Given the description of an element on the screen output the (x, y) to click on. 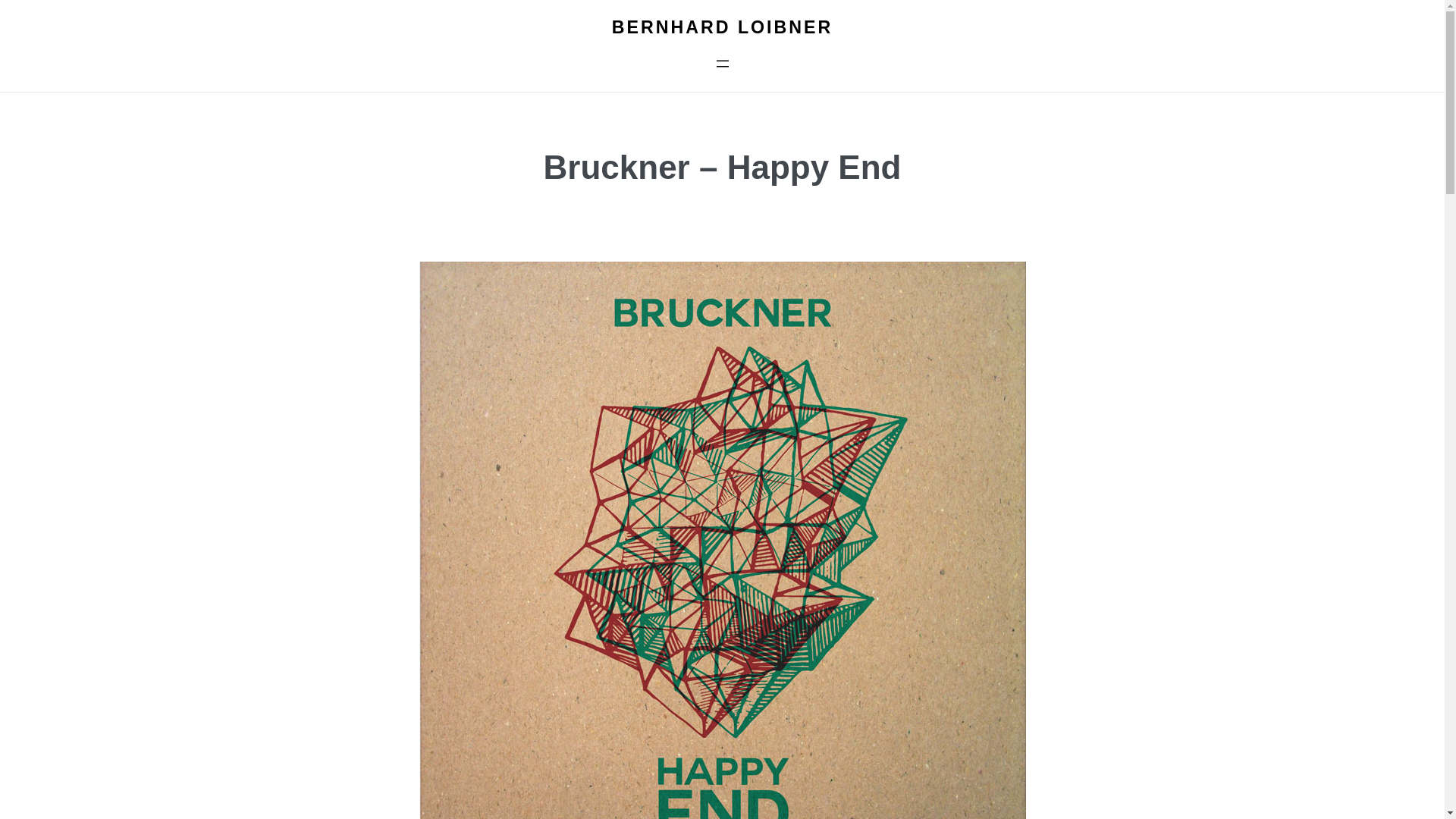
BERNHARD LOIBNER Element type: text (721, 27)
